Given the description of an element on the screen output the (x, y) to click on. 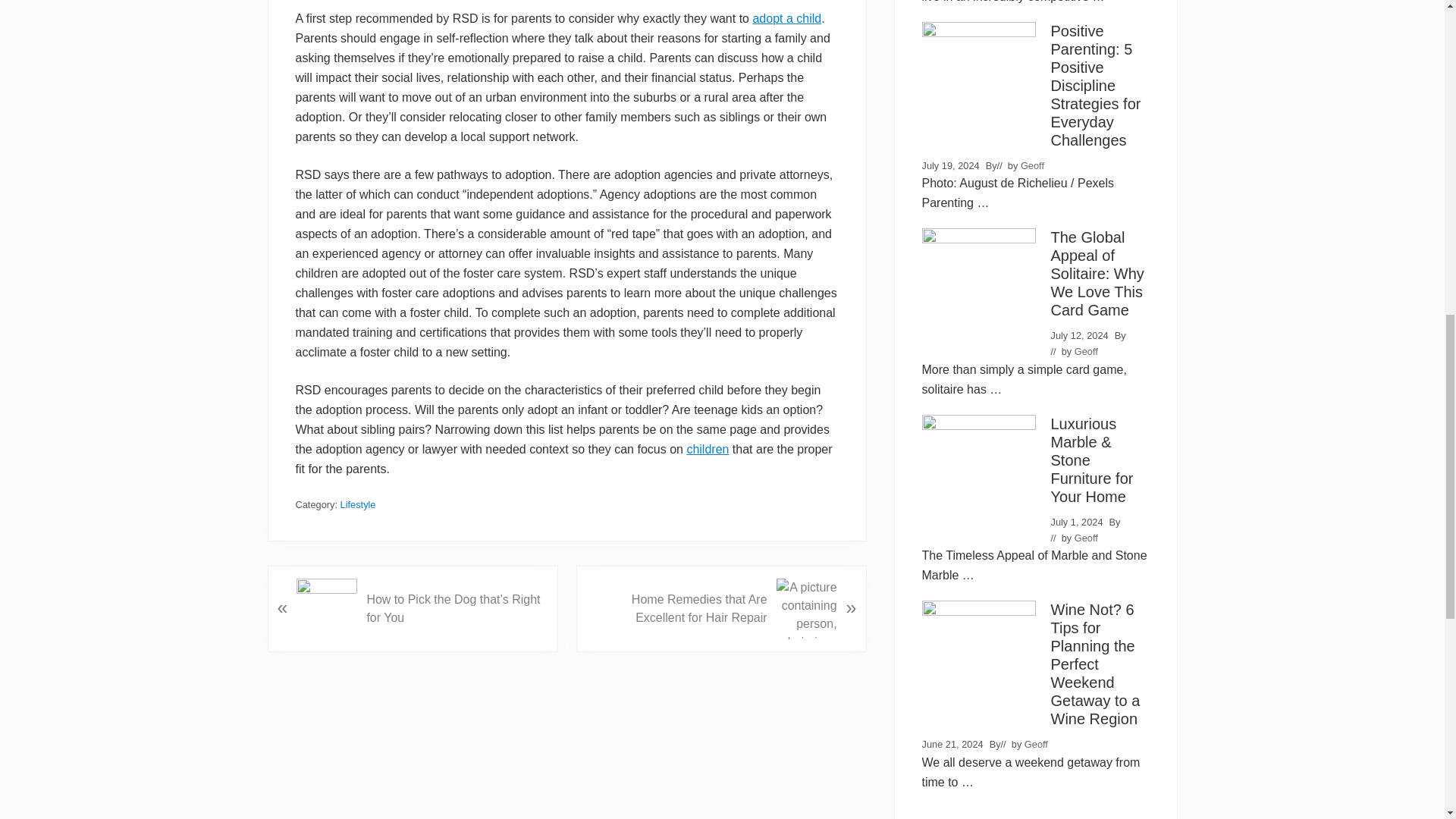
children (707, 449)
Geoff (1031, 165)
adopt a child (786, 18)
Lifestyle (357, 504)
